Given the description of an element on the screen output the (x, y) to click on. 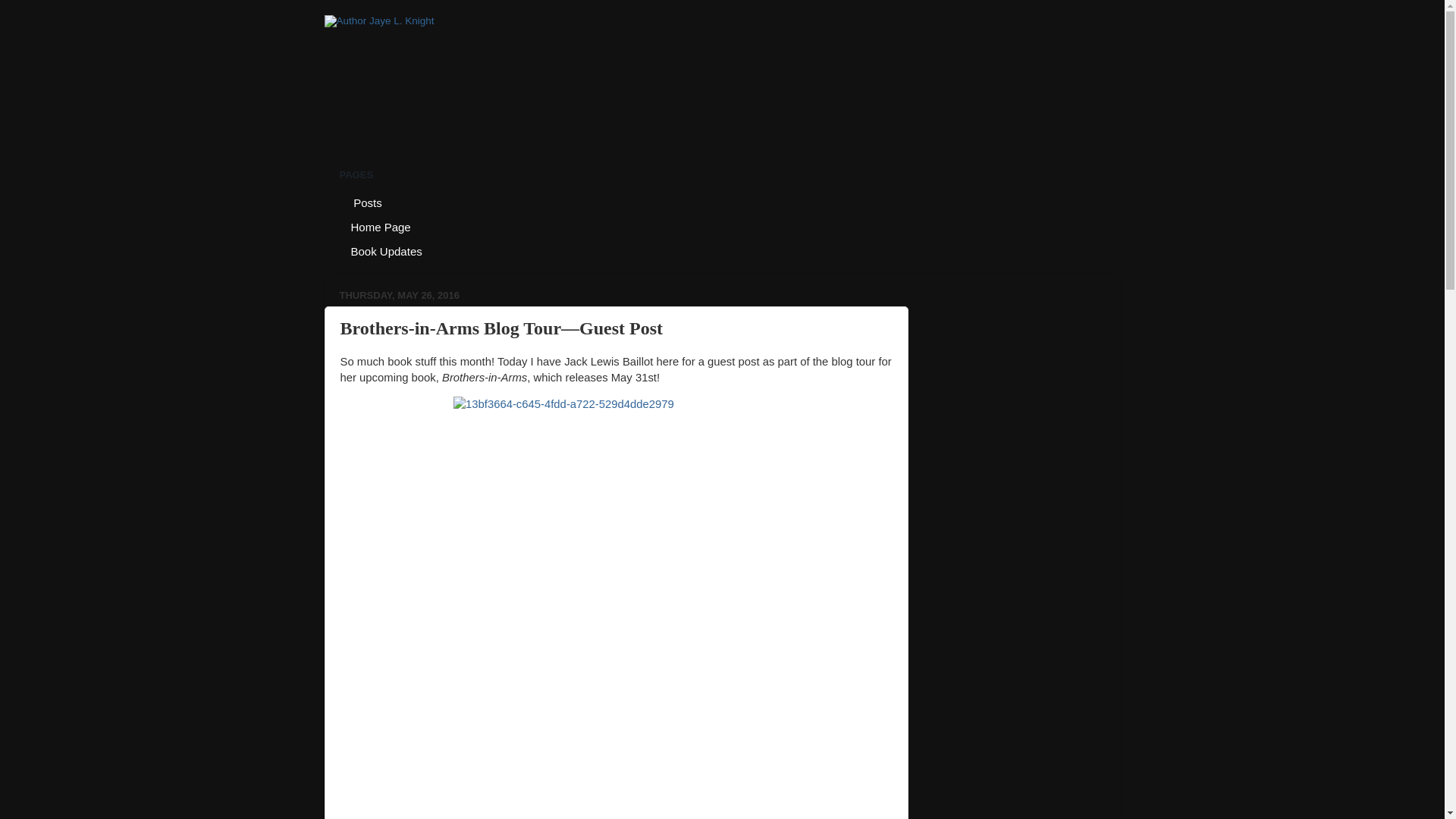
Book Updates (386, 250)
Home Page (381, 226)
Posts (366, 202)
